Given the description of an element on the screen output the (x, y) to click on. 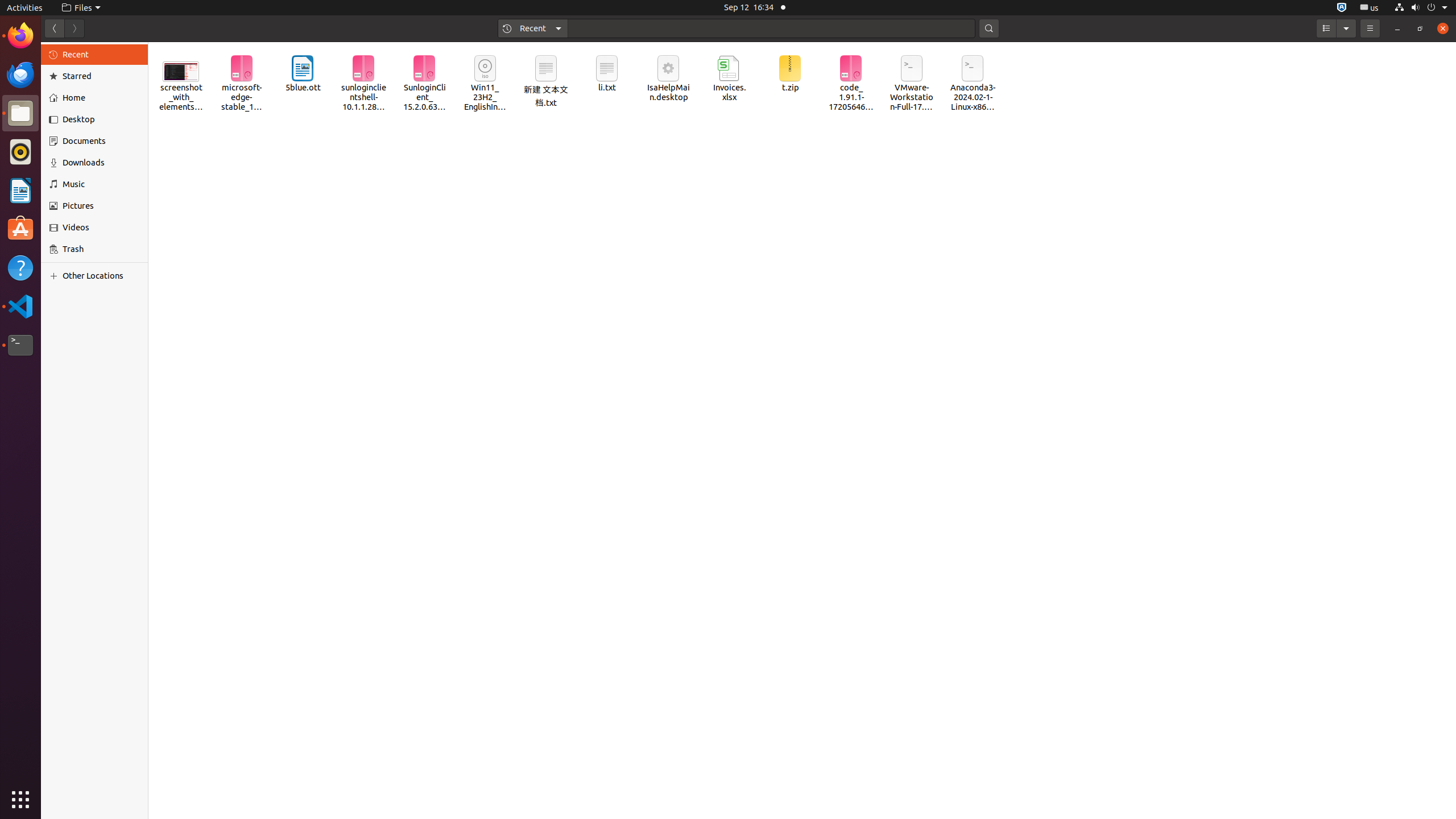
microsoft-edge-stable_128.0.2739.67-1_amd64.deb Element type: canvas (241, 83)
Trash Element type: label (75, 108)
code_1.91.1-1720564633_amd64.deb Element type: canvas (850, 83)
Add Element type: icon (55, 275)
Downloads Element type: label (100, 162)
